Given the description of an element on the screen output the (x, y) to click on. 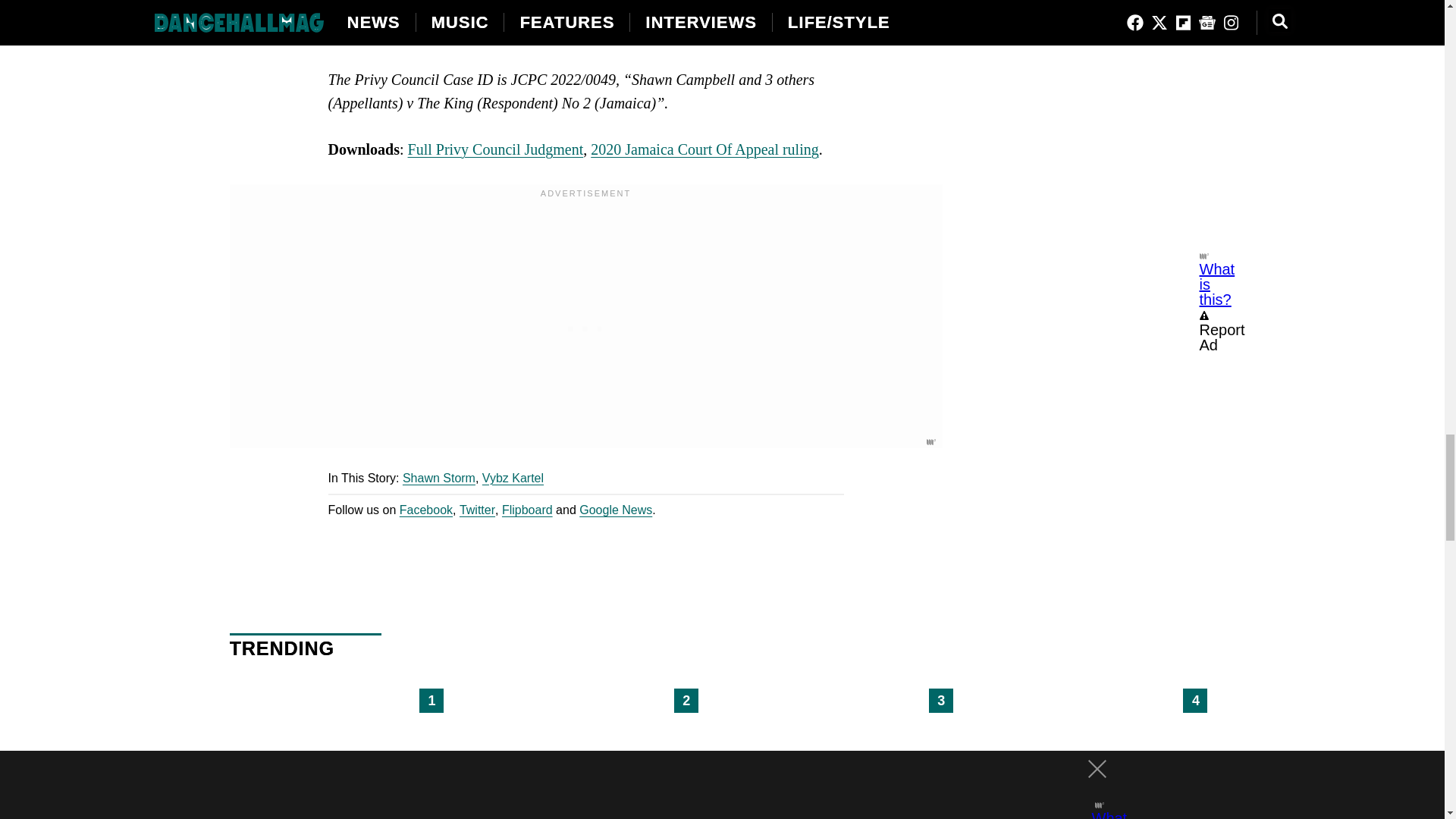
Flipboard (527, 509)
Twitter (477, 509)
Facebook (425, 509)
Vybz Kartel (512, 477)
3rd party ad content (585, 325)
Google News (615, 509)
Full Privy Council Judgment (495, 149)
Shawn Storm (439, 477)
2020 Jamaica Court Of Appeal ruling (704, 149)
